Given the description of an element on the screen output the (x, y) to click on. 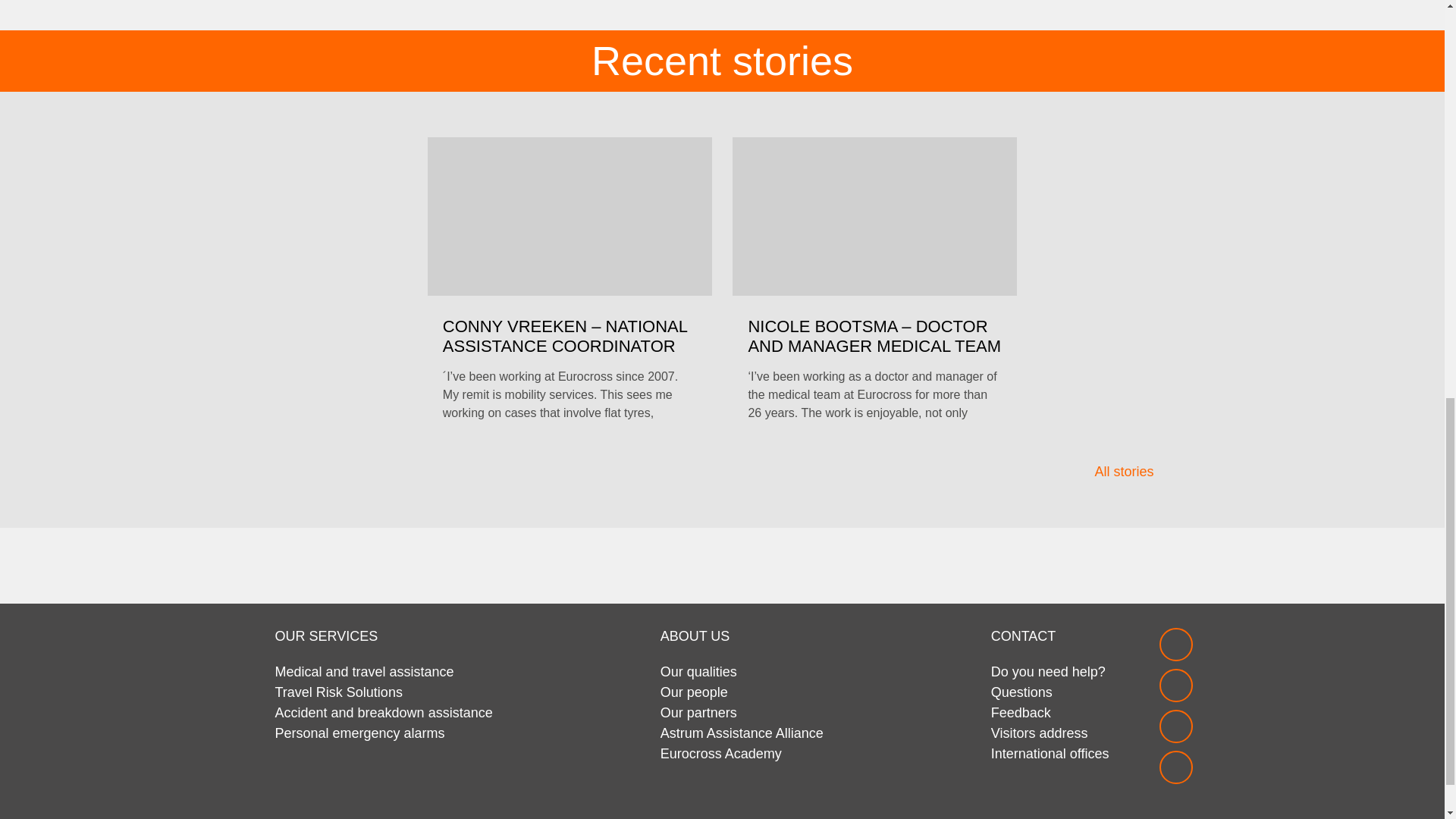
All stories (1131, 471)
